Given the description of an element on the screen output the (x, y) to click on. 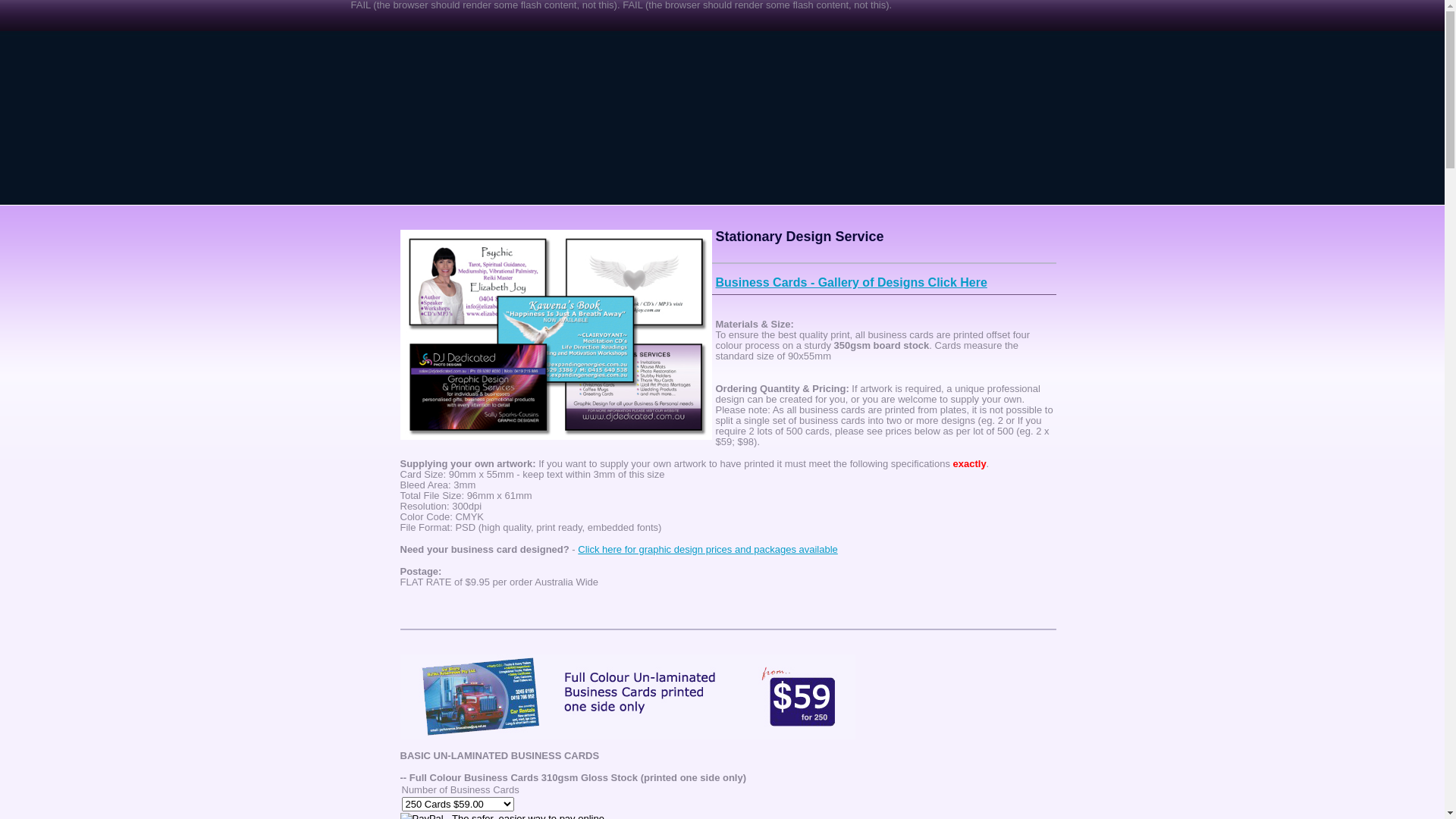
Click here for graphic design prices and packages available Element type: text (707, 549)
Business Cards - Gallery of Designs Click Here Element type: text (851, 282)
